Given the description of an element on the screen output the (x, y) to click on. 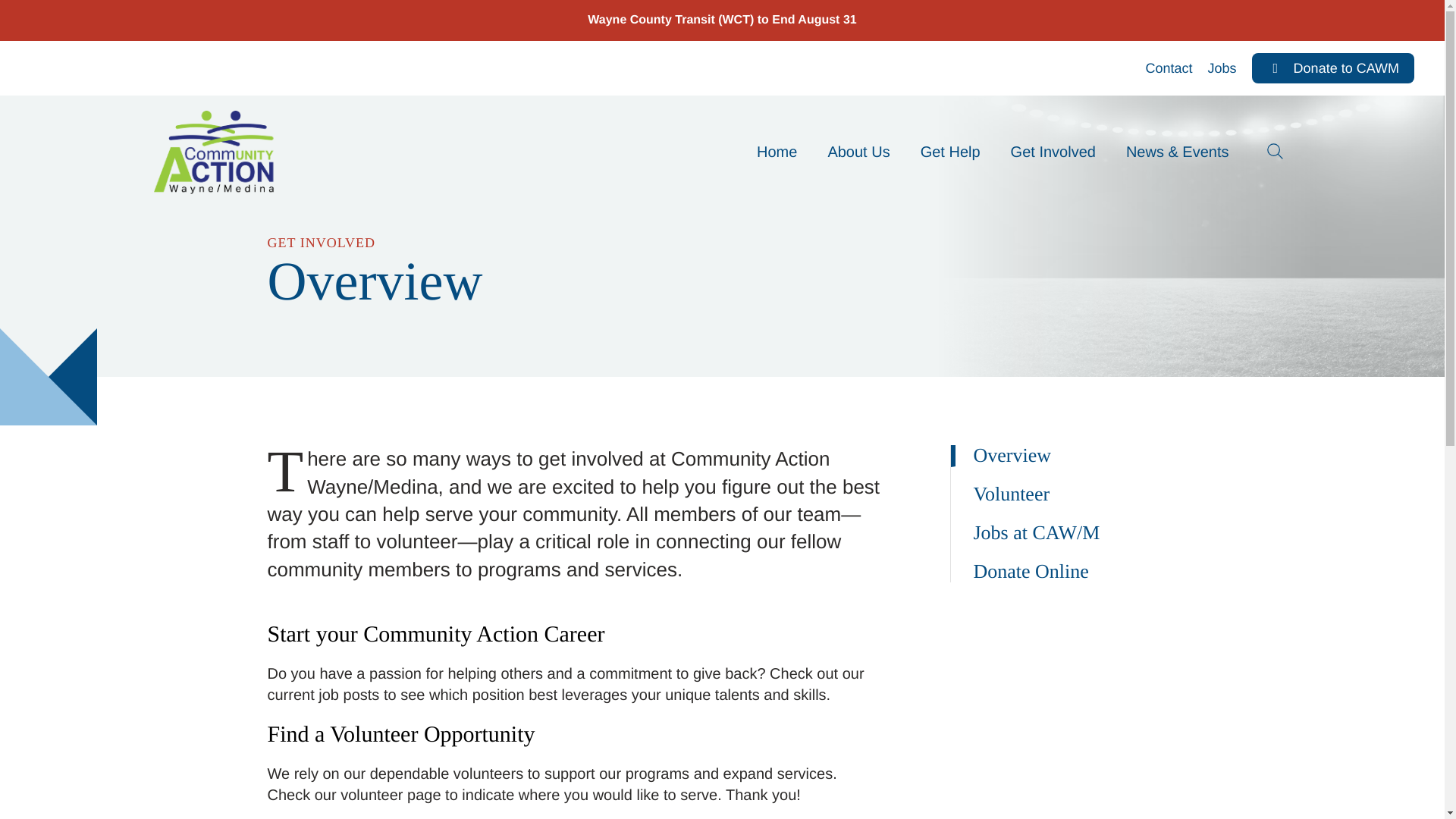
Get Help (950, 152)
About Us (858, 152)
Donate to CAWM (1332, 68)
Contact (1168, 68)
Home (776, 152)
logo (215, 152)
Jobs (1222, 68)
